Given the description of an element on the screen output the (x, y) to click on. 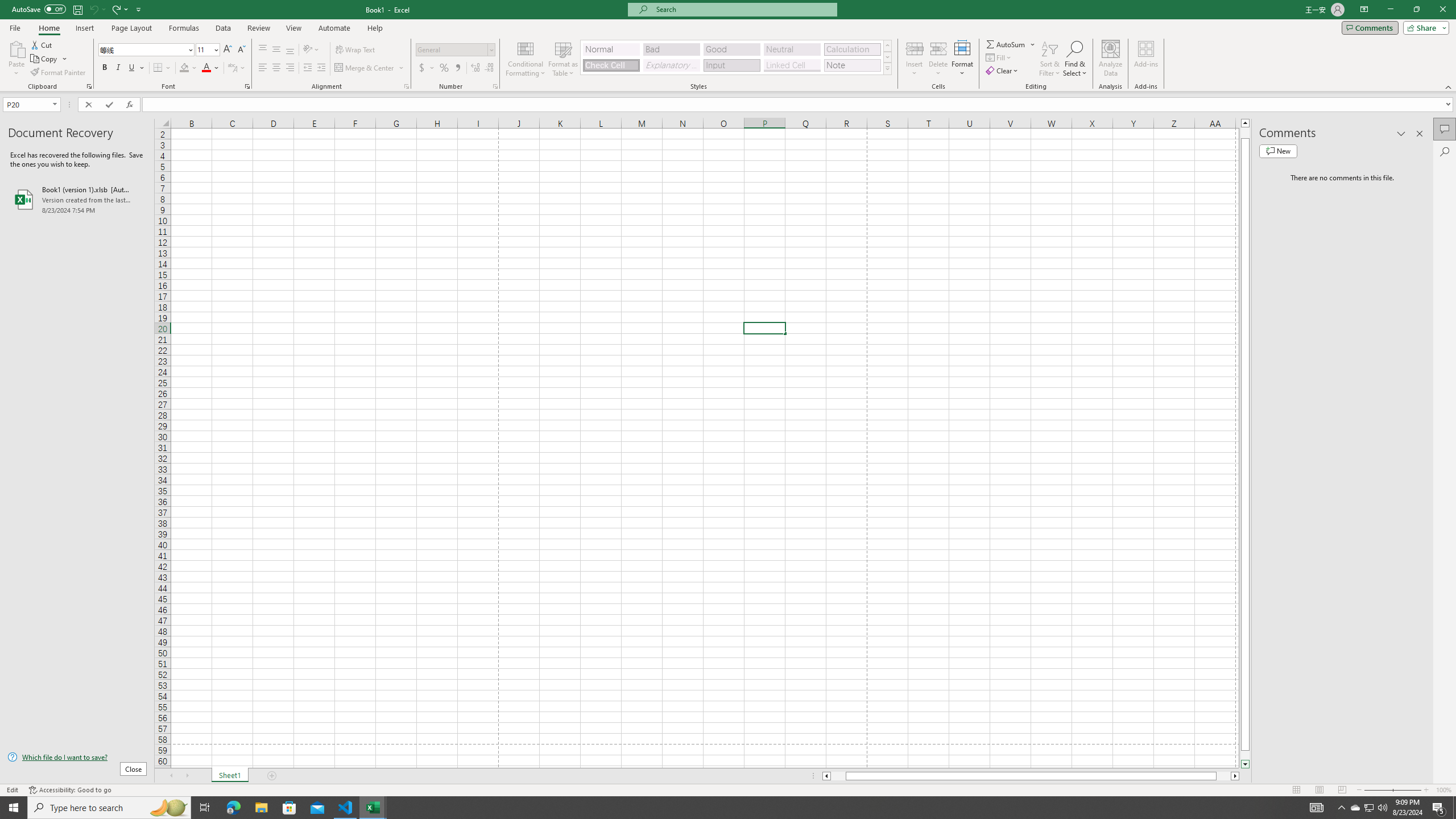
Note (852, 65)
Cell Styles (887, 68)
Accounting Number Format (426, 67)
Search (1444, 151)
Top Align (262, 49)
